Given the description of an element on the screen output the (x, y) to click on. 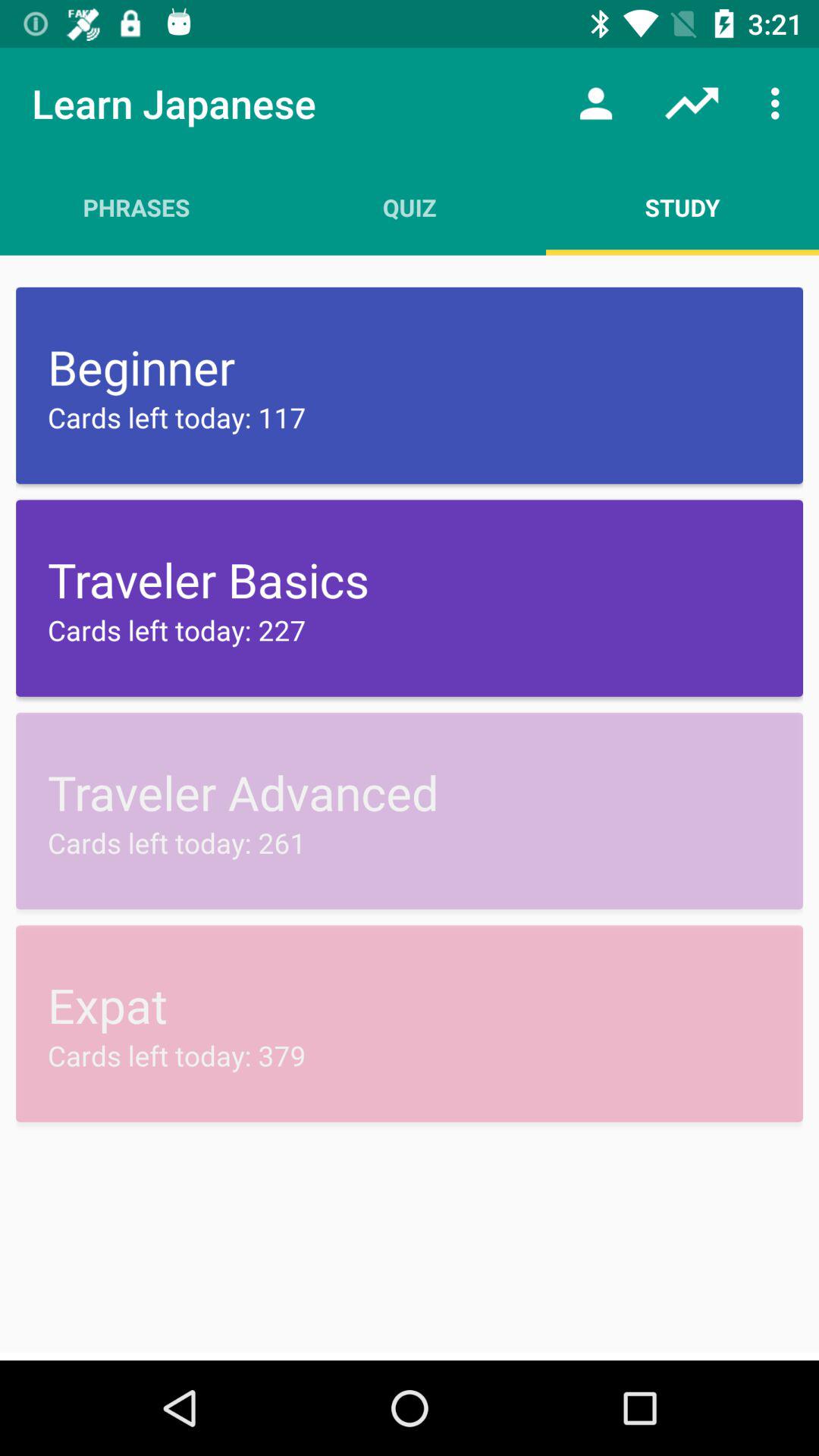
choose the app to the left of study (409, 207)
